Given the description of an element on the screen output the (x, y) to click on. 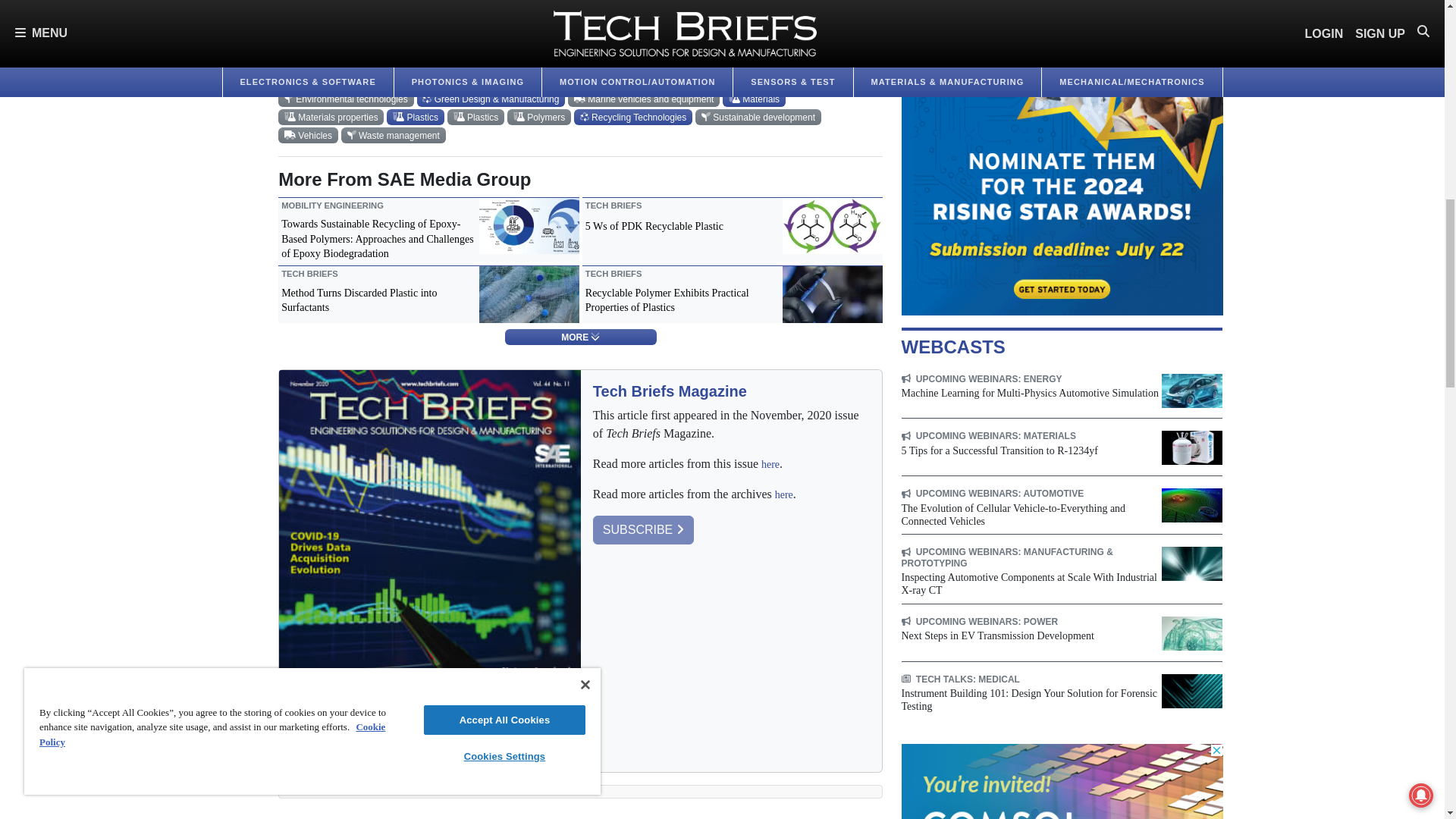
3rd party ad content (1062, 781)
3rd party ad content (1062, 157)
